Given the description of an element on the screen output the (x, y) to click on. 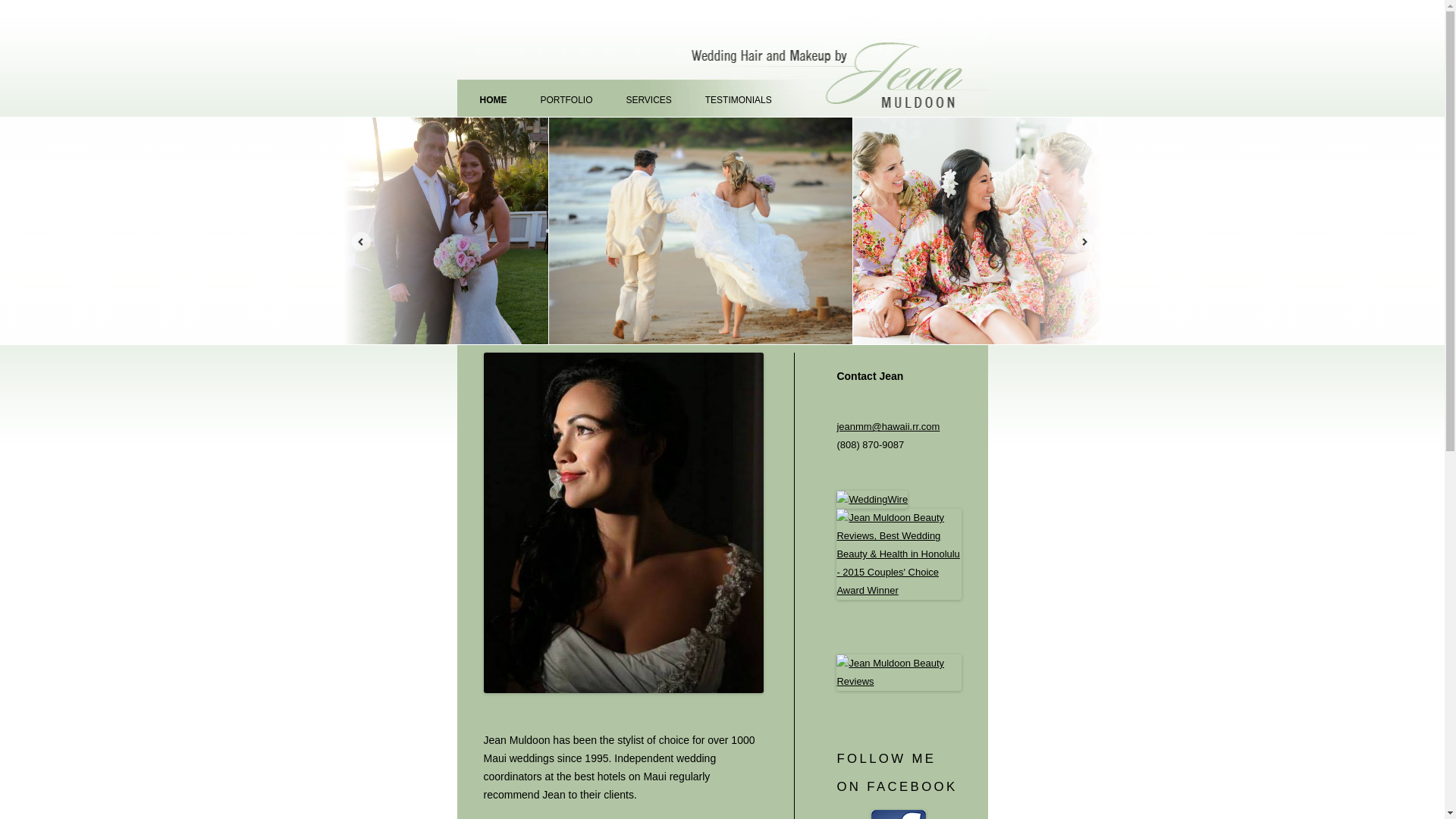
Jean Muldoon Beauty Reviews (897, 681)
TESTIMONIALS (737, 100)
WeddingWire (871, 499)
PORTFOLIO (566, 100)
SERVICES (648, 100)
